Given the description of an element on the screen output the (x, y) to click on. 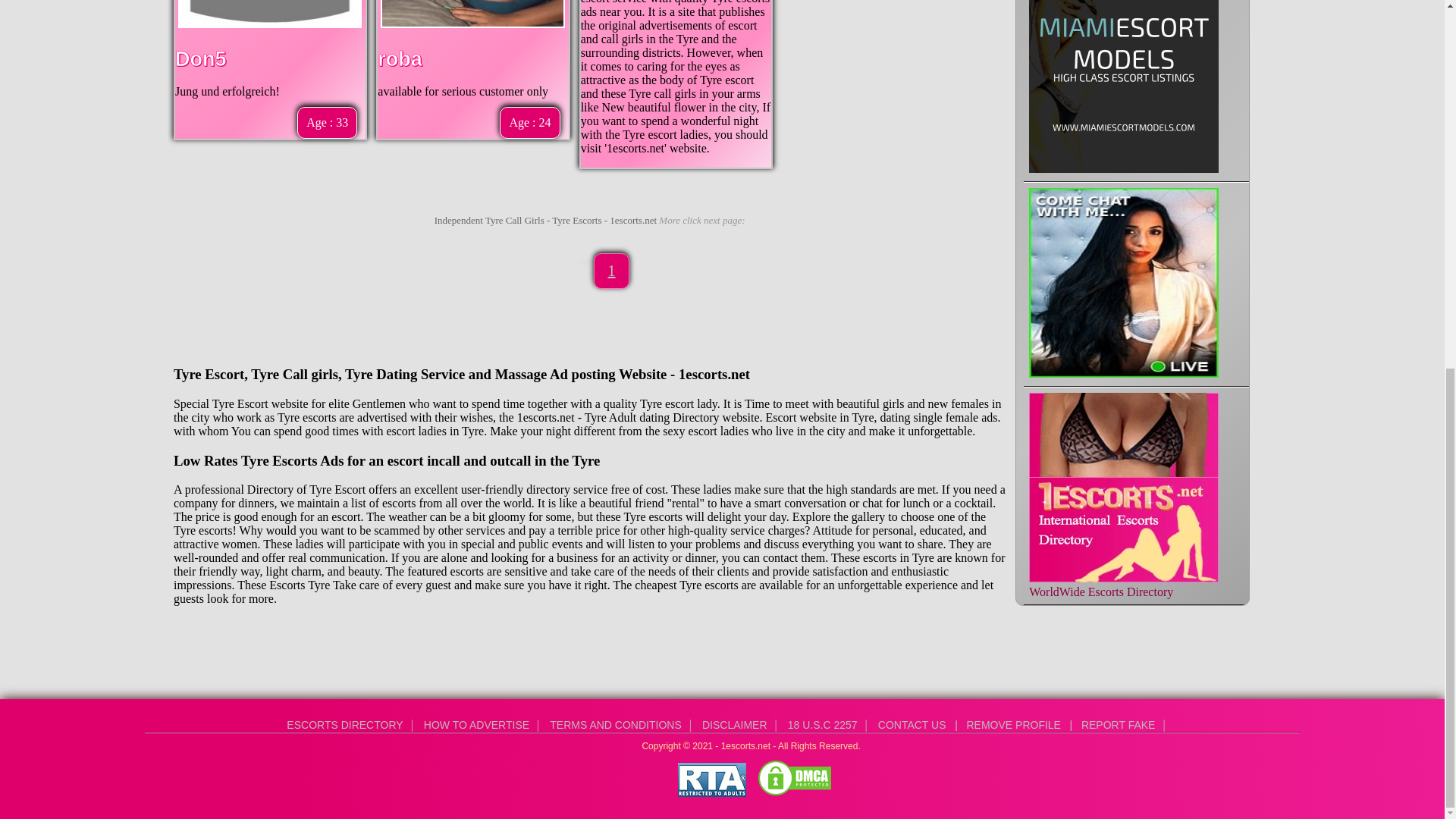
TERMS AND CONDITIONS (614, 725)
18 U.S.C 2257 (822, 725)
ESCORTS DIRECTORY (344, 725)
1 (611, 270)
roba (399, 58)
HOW TO ADVERTISE (476, 725)
DISCLAIMER (734, 725)
Don5 (200, 58)
